Given the description of an element on the screen output the (x, y) to click on. 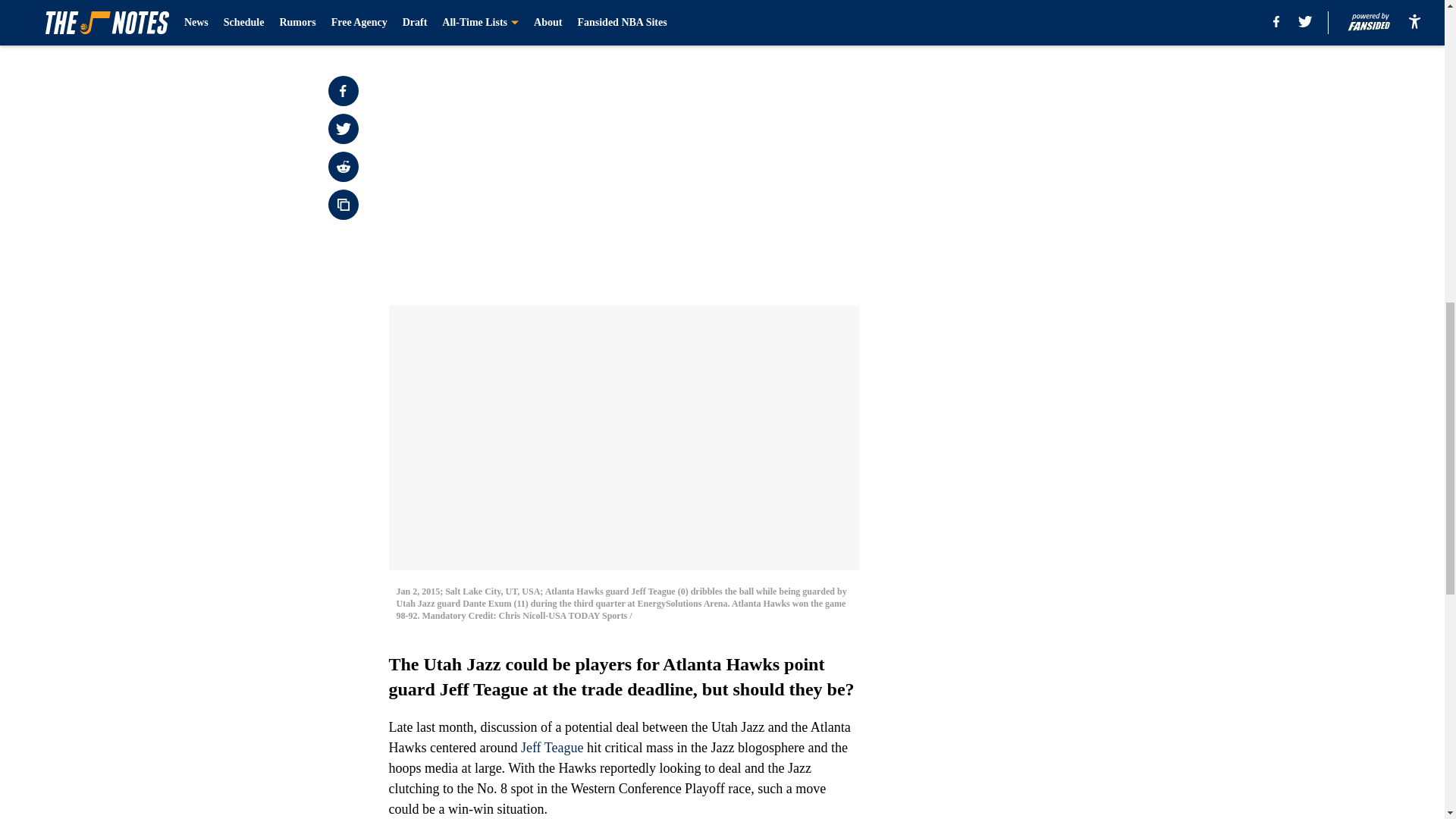
Next (813, 5)
Jeff Teague (552, 747)
Prev (433, 5)
